Given the description of an element on the screen output the (x, y) to click on. 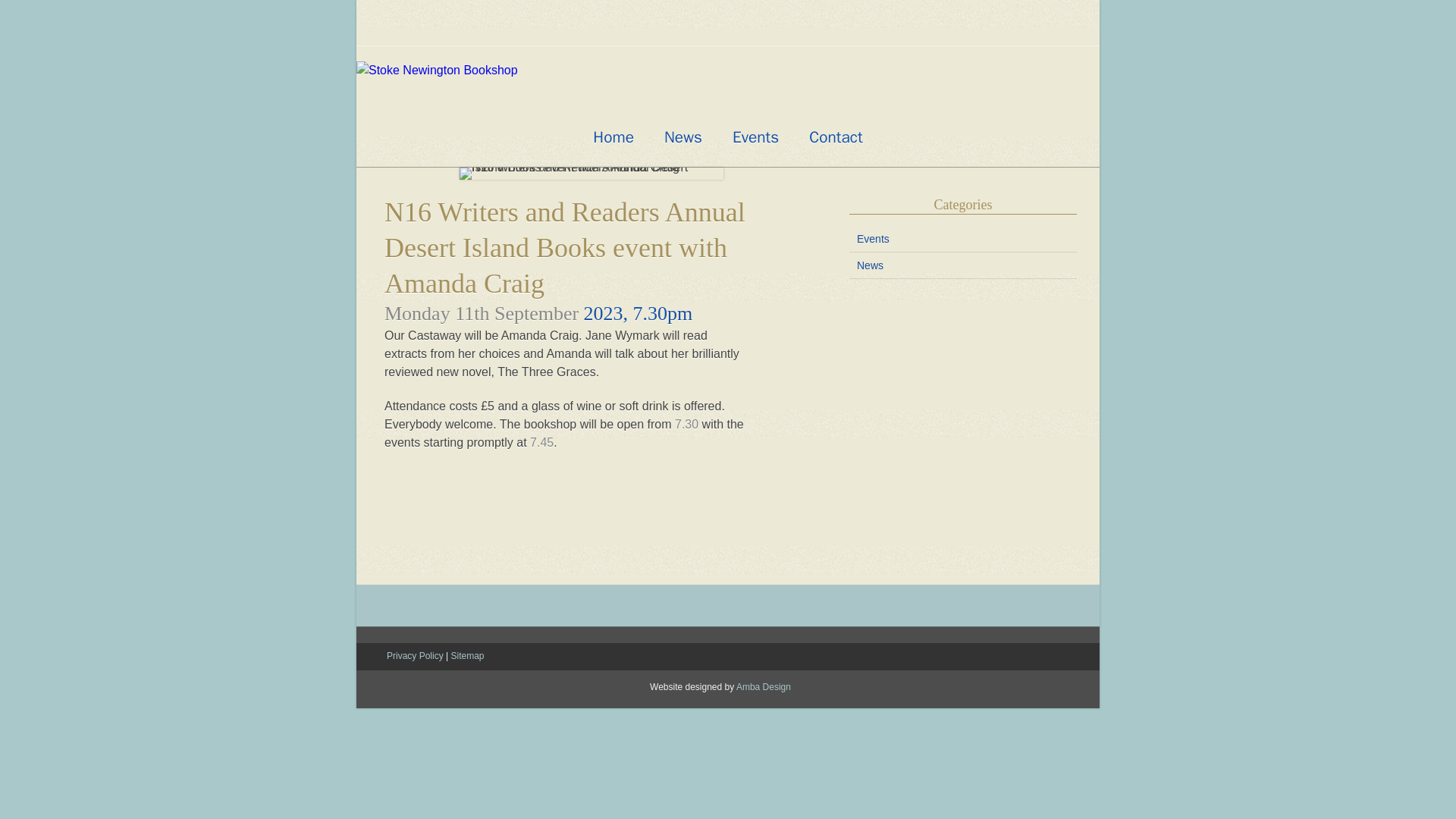
Twitter (743, 34)
Privacy Policy (415, 655)
Home (618, 137)
Contact (841, 137)
Events (761, 137)
News (688, 137)
Facebook (711, 34)
News (962, 267)
View More (727, 628)
Amba Design (763, 686)
Events (962, 241)
Sitemap (466, 655)
